Given the description of an element on the screen output the (x, y) to click on. 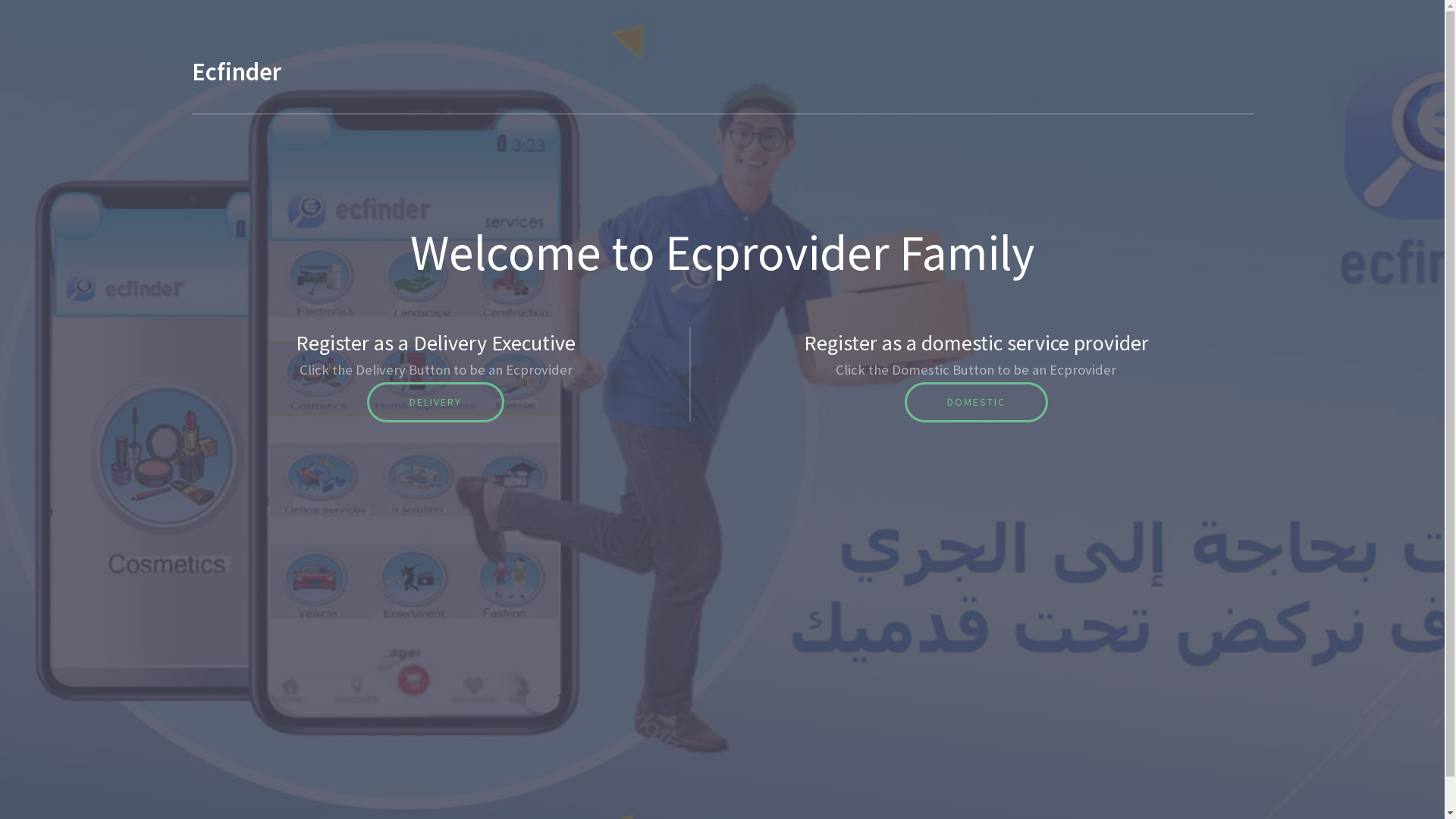
DOMESTIC Element type: text (976, 402)
Ecfinder Element type: text (235, 71)
DELIVERY Element type: text (435, 402)
